Given the description of an element on the screen output the (x, y) to click on. 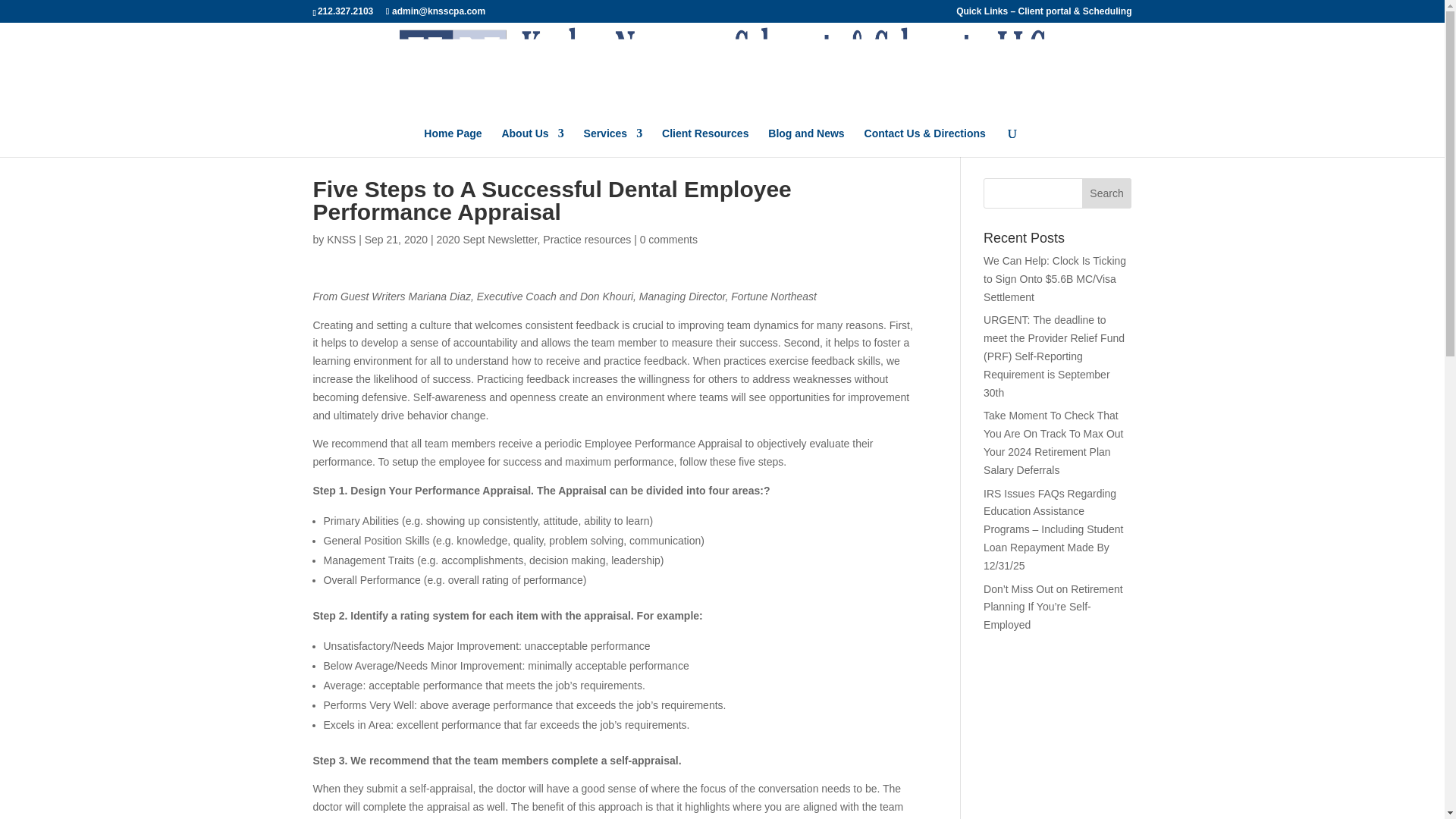
Search (1106, 193)
Practice resources (586, 239)
2020 Sept Newsletter (486, 239)
0 comments (668, 239)
About Us (531, 142)
KNSS (340, 239)
Search (1106, 193)
Client Resources (705, 142)
Blog and News (806, 142)
